Given the description of an element on the screen output the (x, y) to click on. 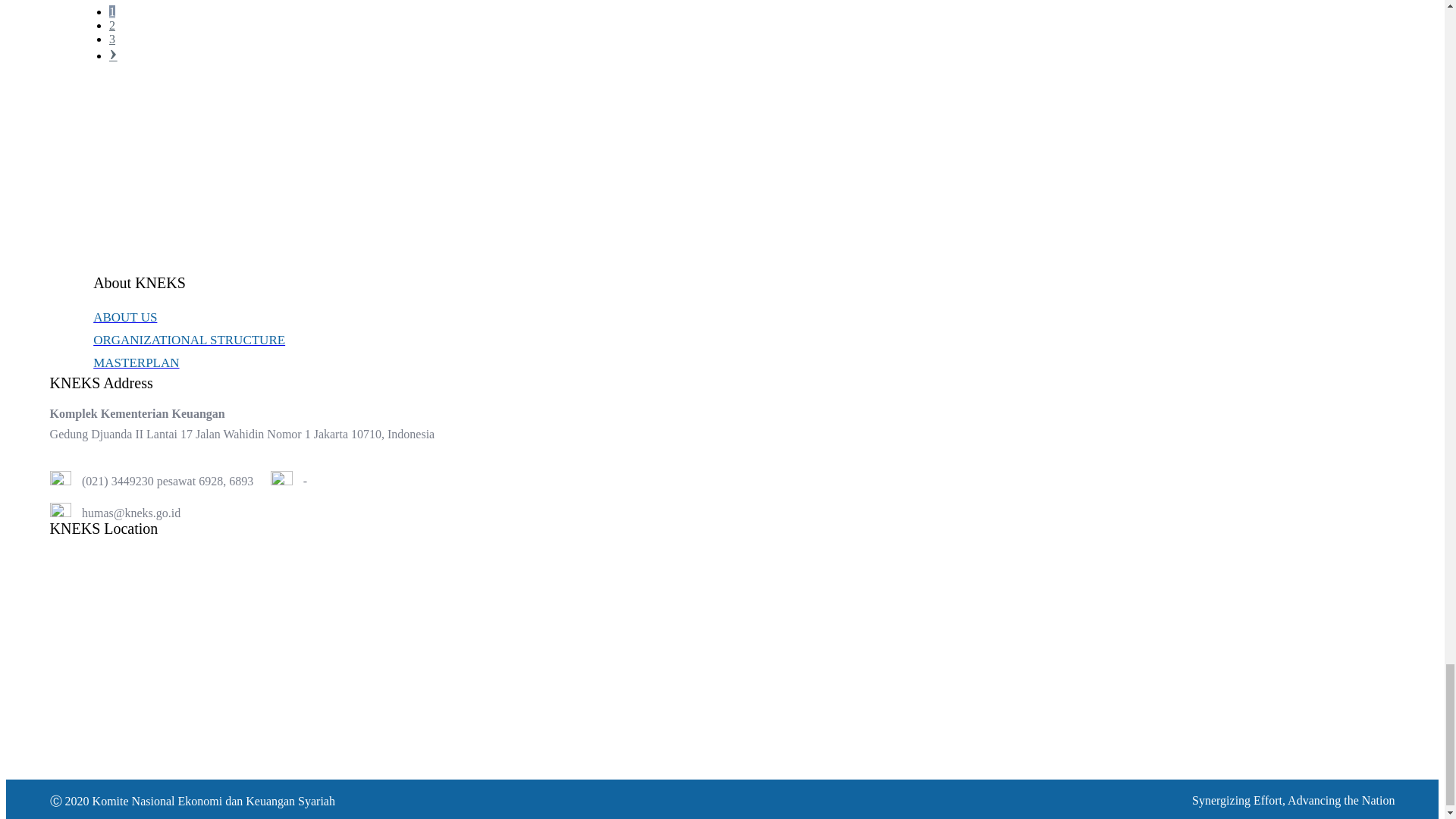
ABOUT US (743, 317)
MASTERPLAN (743, 363)
ORGANIZATIONAL STRUCTURE (743, 340)
